Given the description of an element on the screen output the (x, y) to click on. 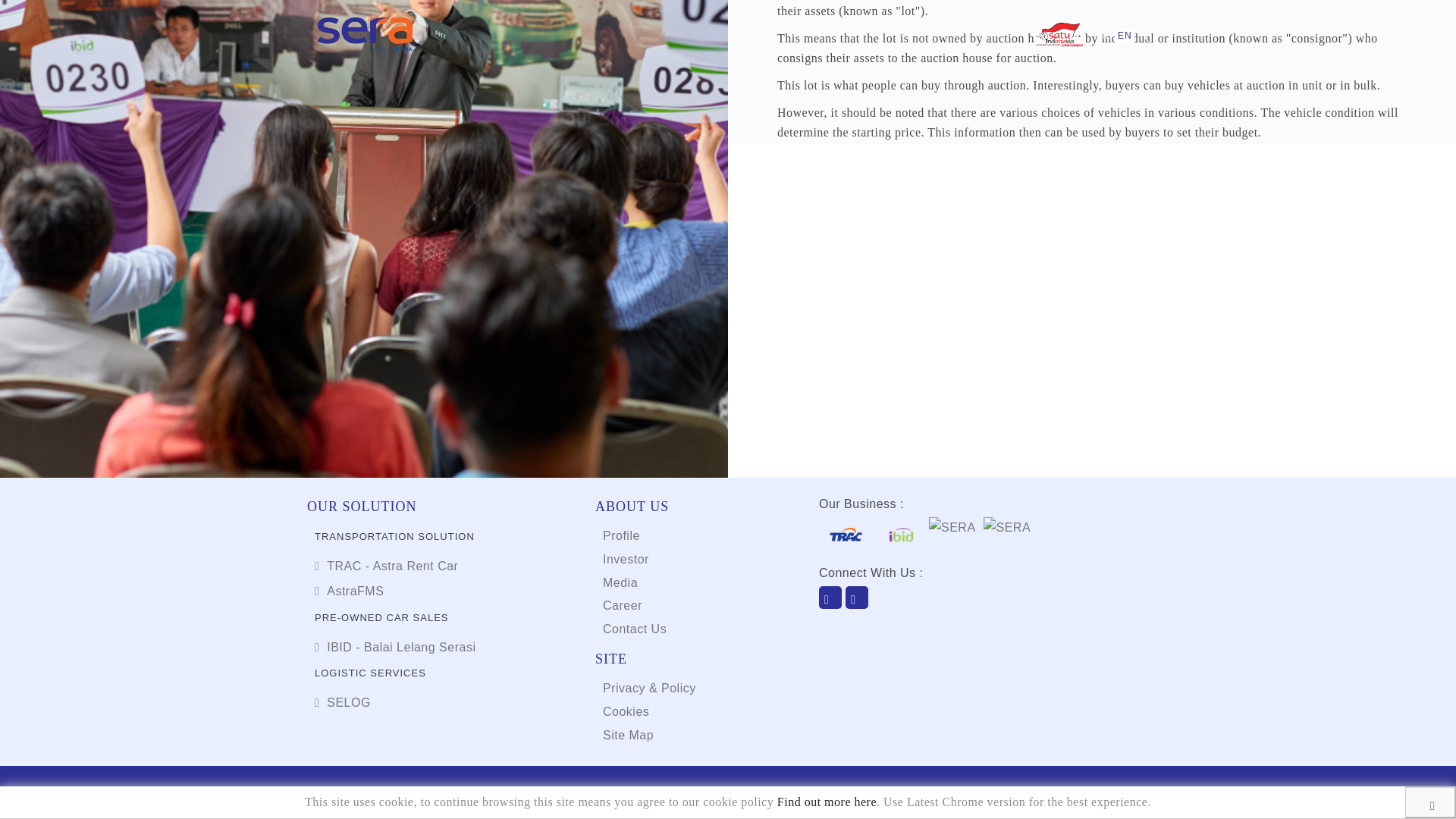
  TRAC - Astra Rent Car (386, 565)
IBID (791, 621)
Media (619, 582)
  AstraFMS (349, 590)
Profile (621, 535)
Contact Us (634, 628)
  SELOG (342, 702)
Investor (625, 558)
Career (622, 604)
SERA (826, 621)
